Given the description of an element on the screen output the (x, y) to click on. 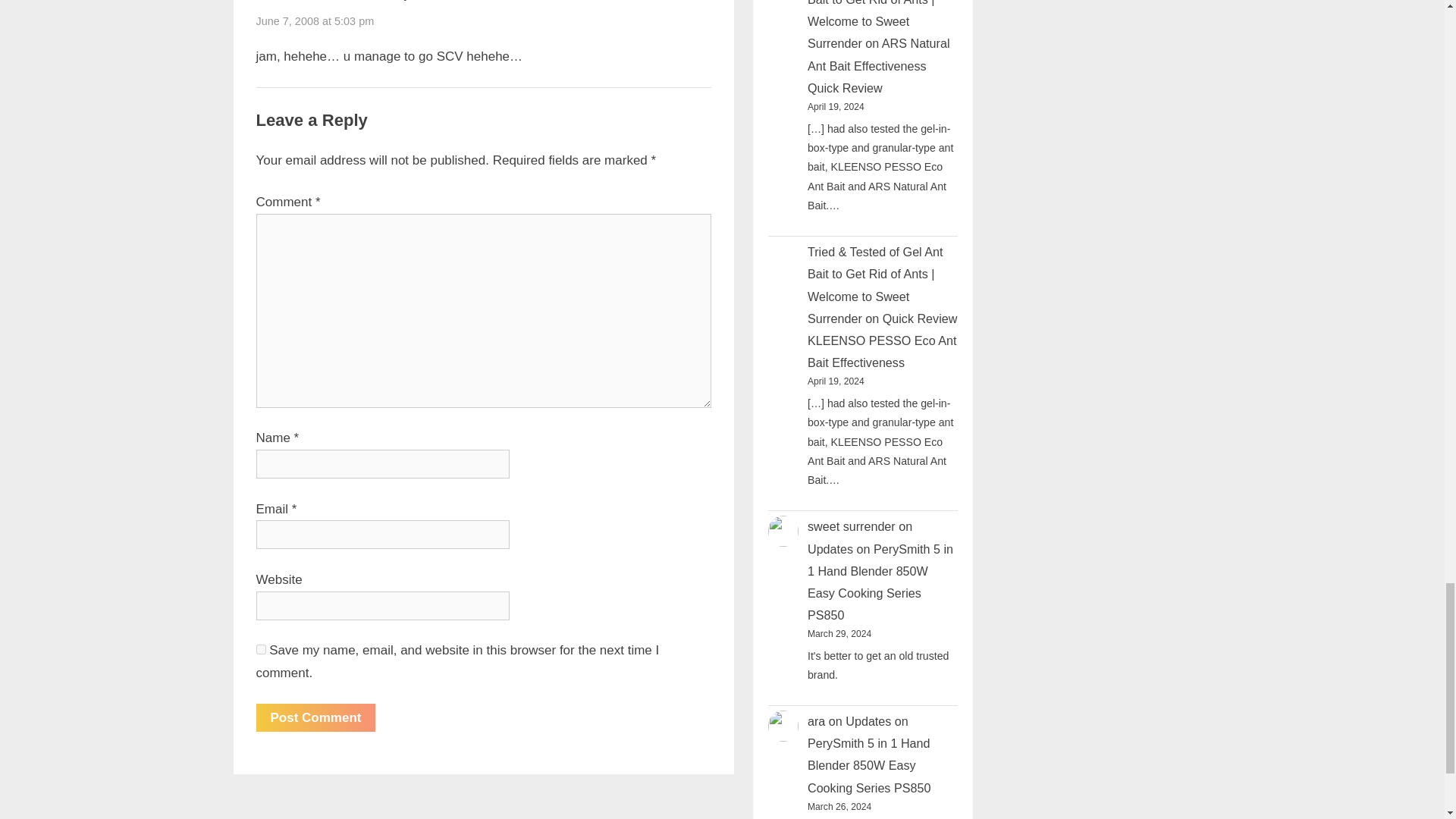
sweet surrender (334, 0)
yes (261, 649)
Post Comment (315, 717)
June 7, 2008 at 5:03 pm (315, 21)
Post Comment (315, 717)
